Given the description of an element on the screen output the (x, y) to click on. 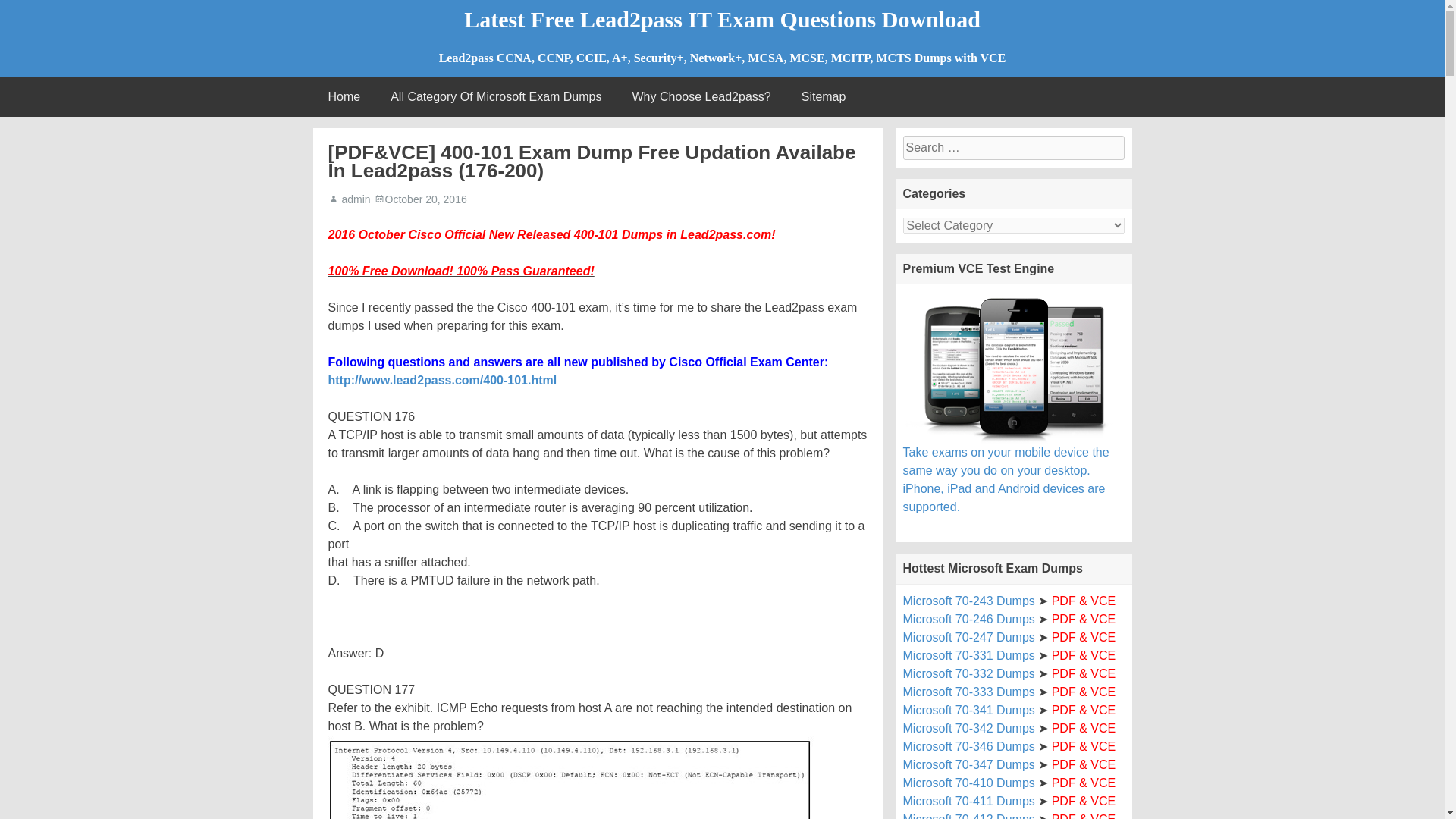
1:51 PM (426, 199)
Latest Free Lead2pass IT Exam Questions Download (721, 18)
Skip to content (55, 85)
All Category Of Microsoft Exam Dumps (495, 96)
October 20, 2016 (426, 199)
View all posts by admin (354, 199)
admin (354, 199)
Why Choose Lead2pass? (700, 96)
Sitemap (823, 96)
Home (344, 96)
1771 (569, 777)
